Given the description of an element on the screen output the (x, y) to click on. 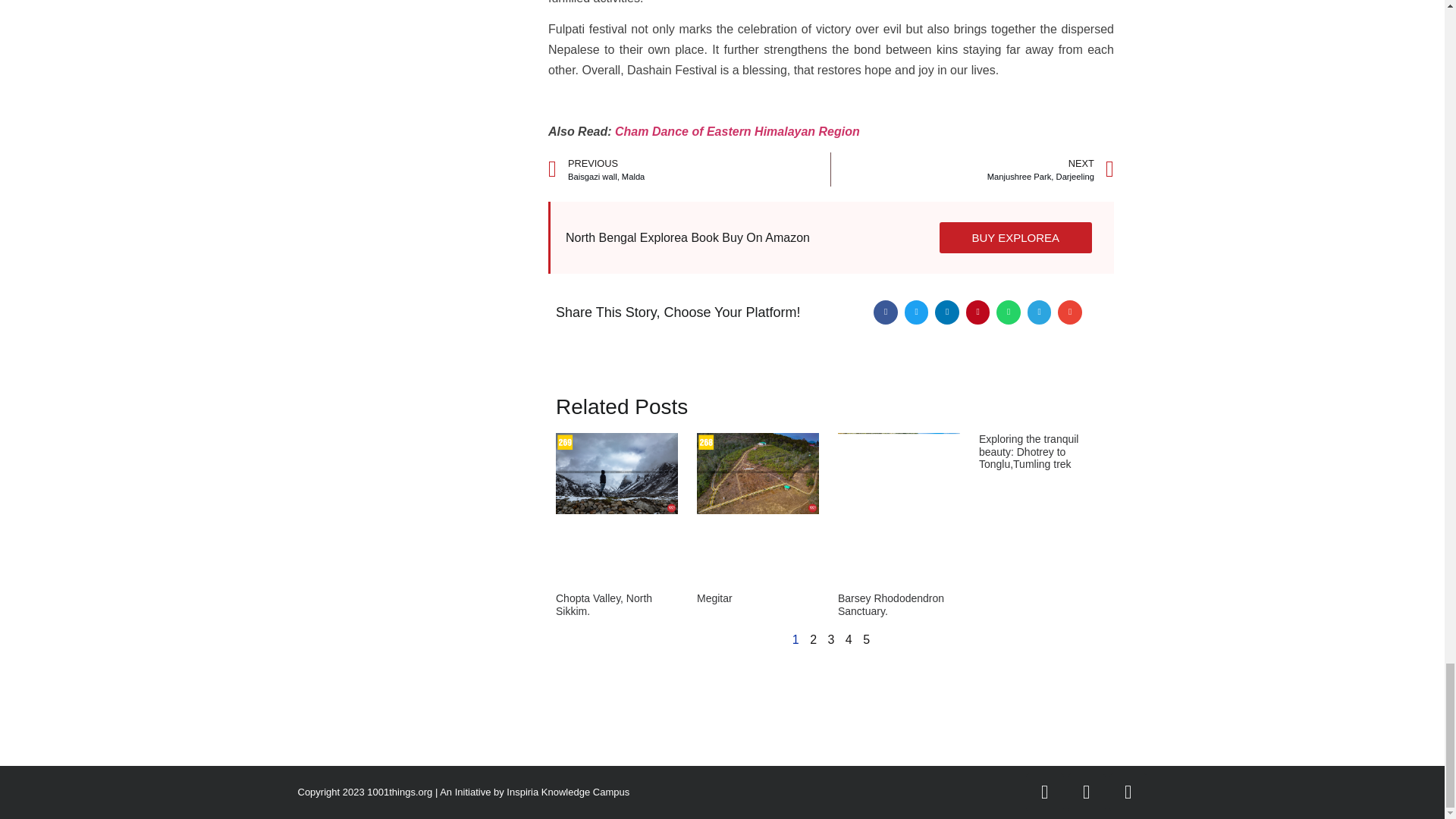
Chopta Valley, North Sikkim. (604, 604)
BUY EXPLOREA (1015, 237)
Cham Dance of Eastern Himalayan Region (972, 170)
Barsey Rhododendron Sanctuary. (737, 131)
Megitar (688, 170)
